Given the description of an element on the screen output the (x, y) to click on. 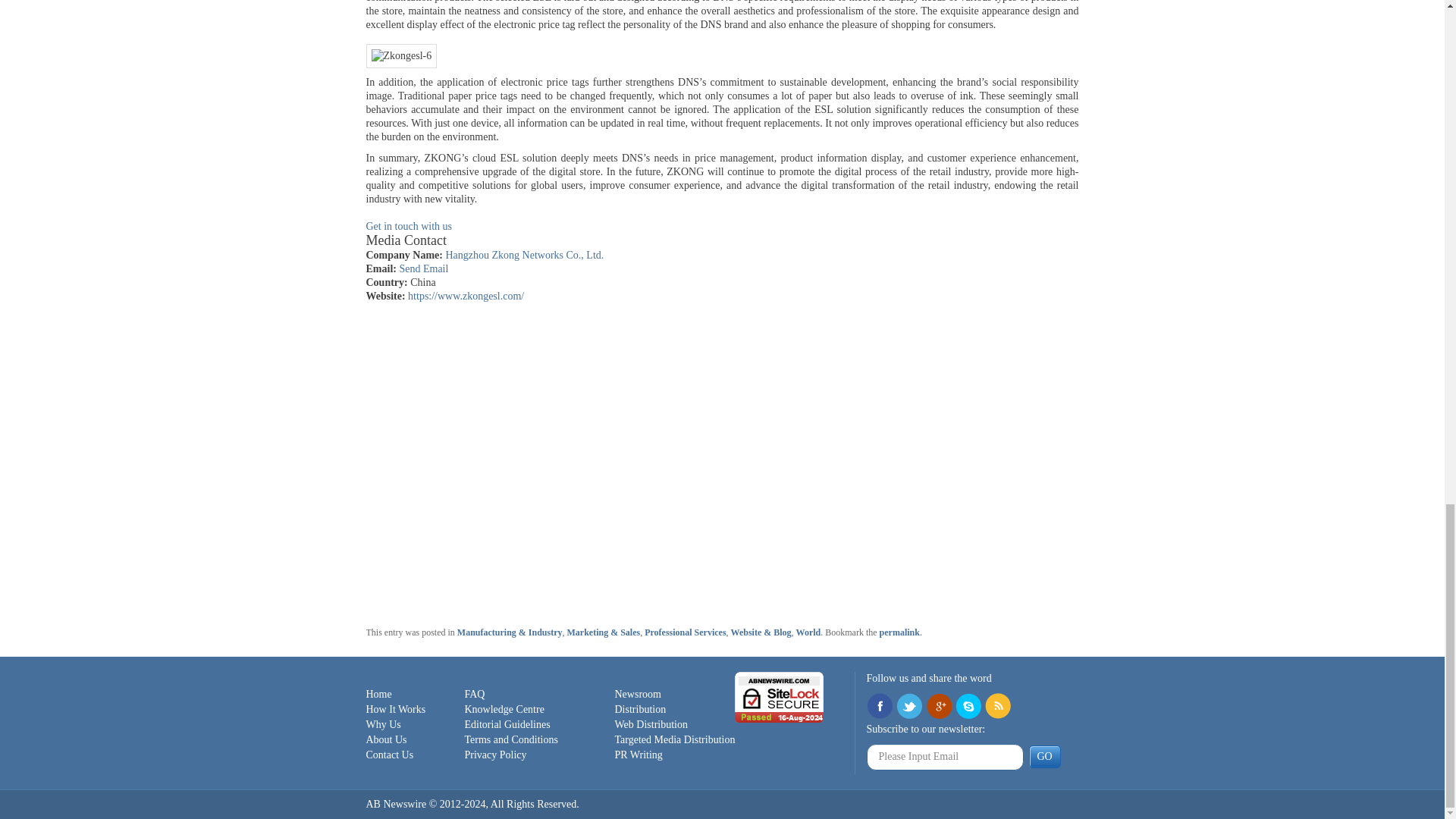
Please Input Email (944, 756)
SiteLock (779, 696)
GO (1043, 756)
